Given the description of an element on the screen output the (x, y) to click on. 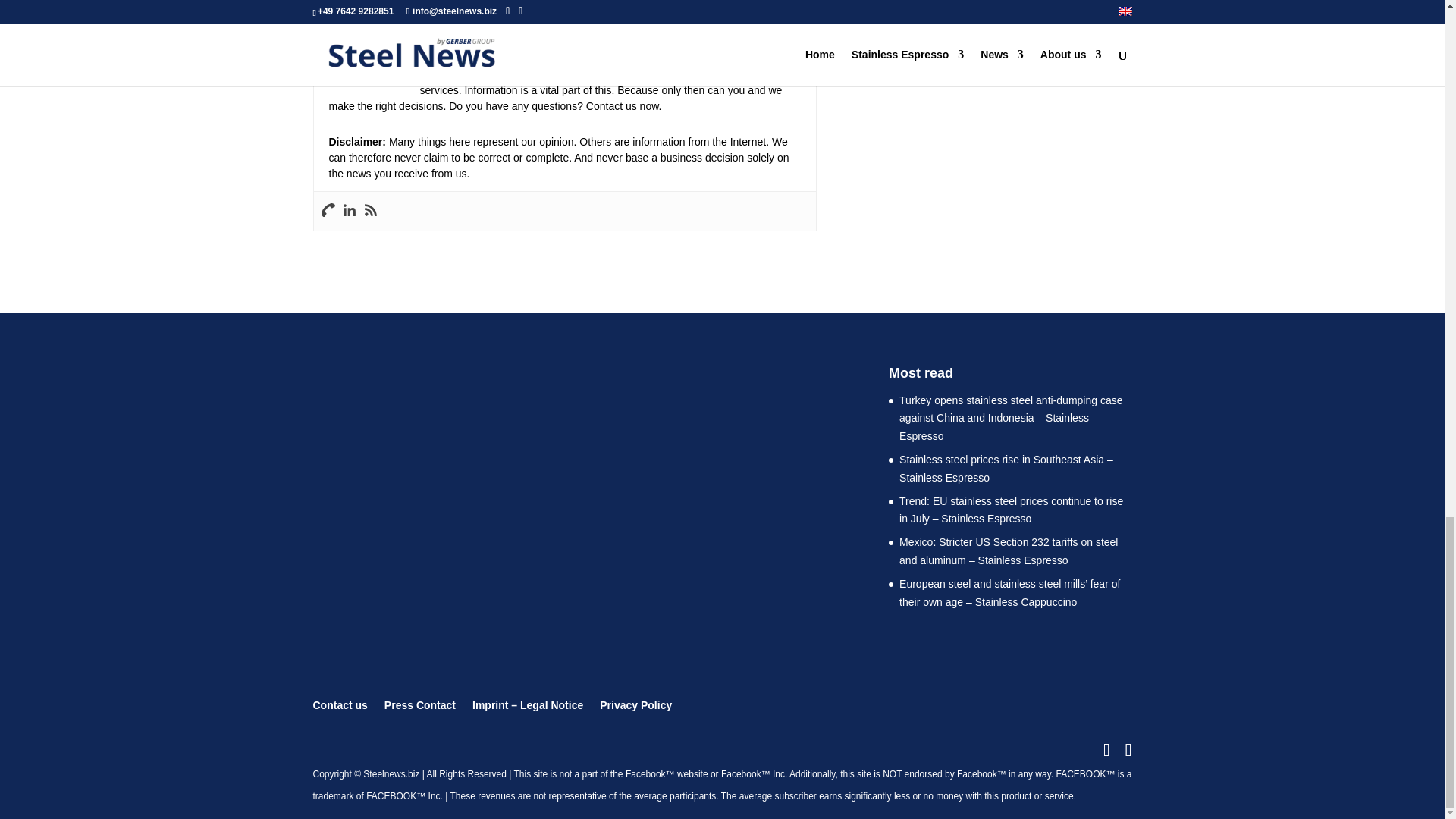
Gerber Group (461, 37)
